Given the description of an element on the screen output the (x, y) to click on. 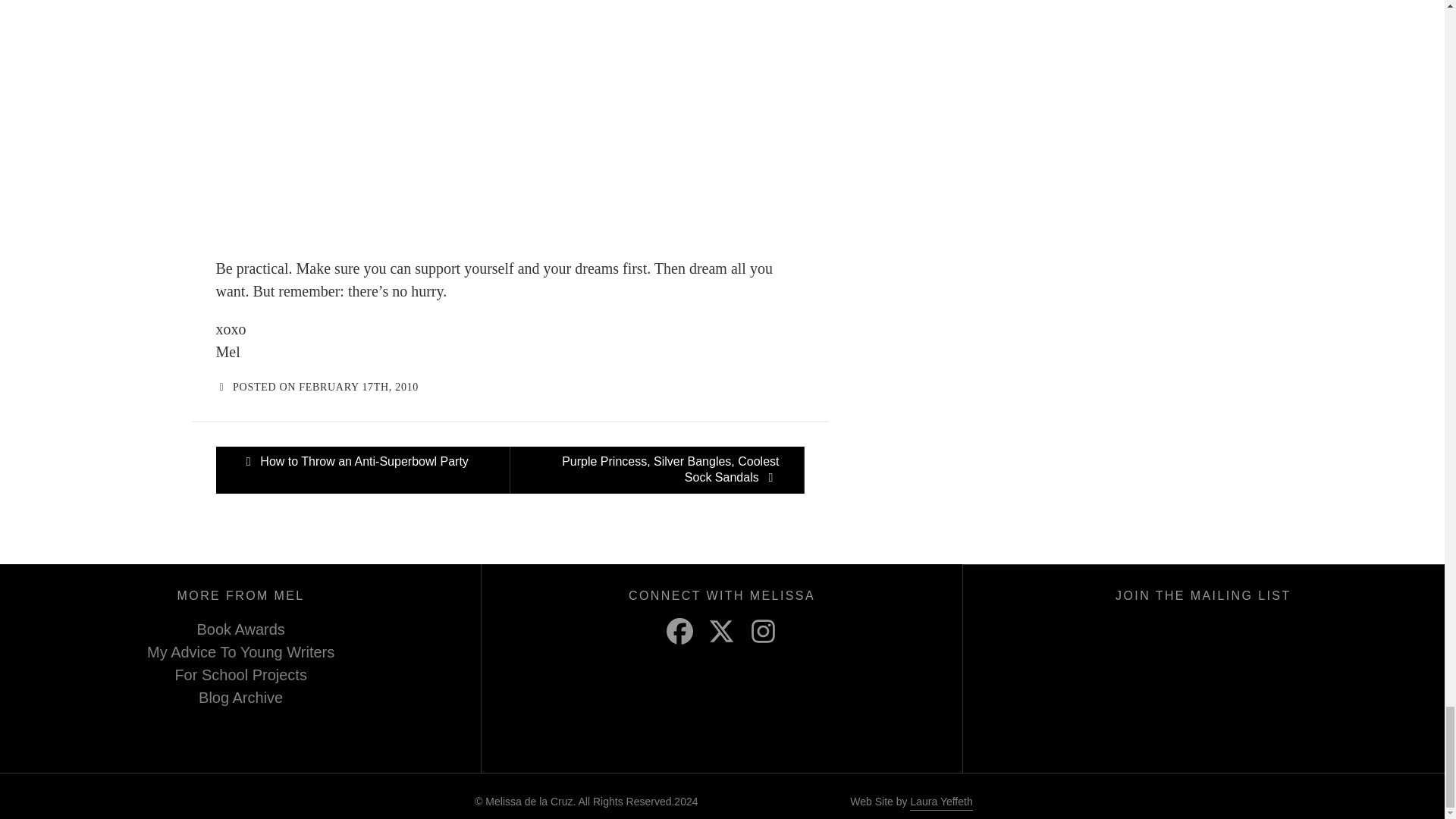
How to Throw an Anti-Superbowl Party (362, 469)
Purple Princess, Silver Bangles, Coolest Sock Sandals (656, 469)
